Given the description of an element on the screen output the (x, y) to click on. 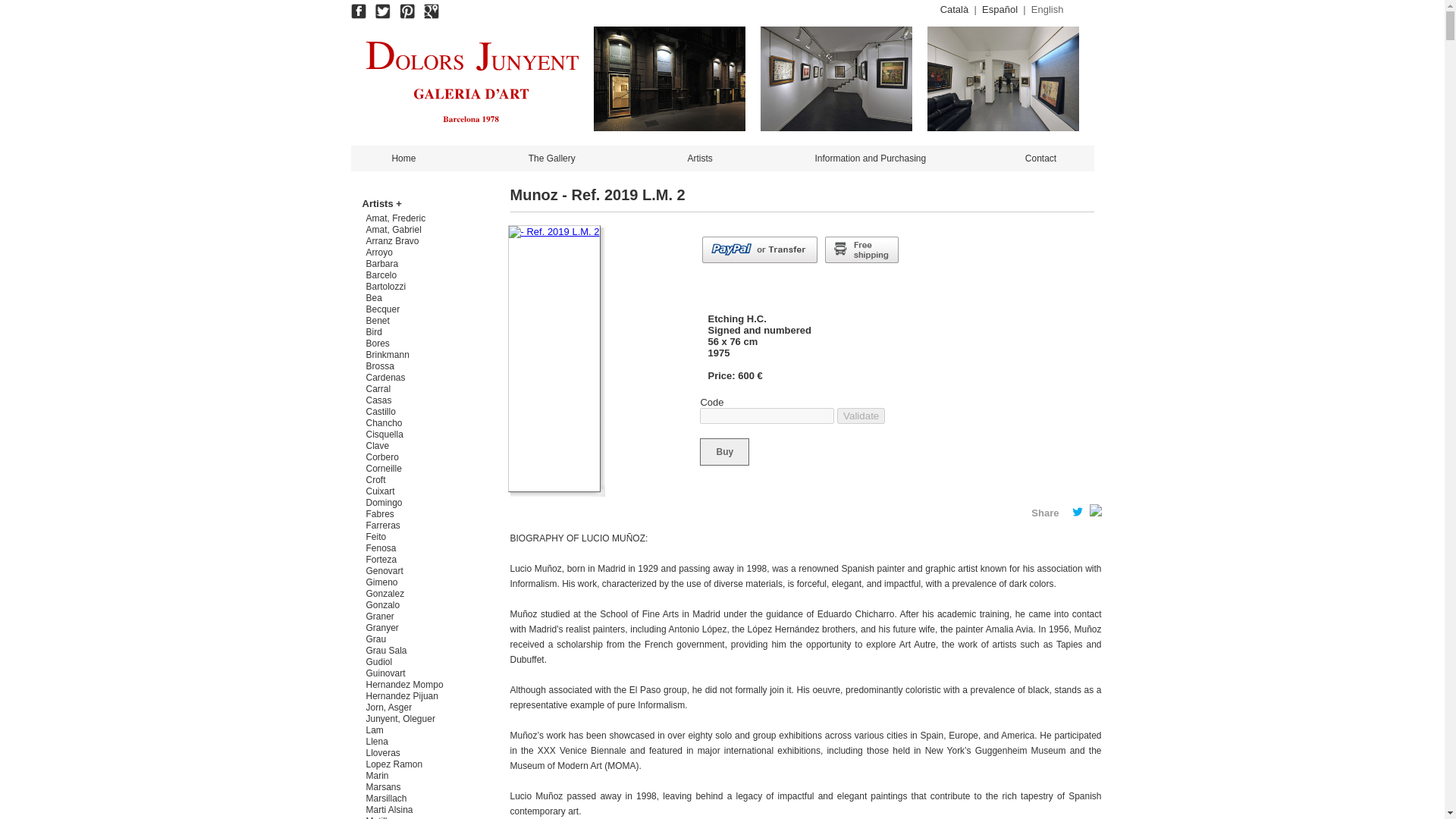
Amat, Gabriel (393, 229)
Information and Purchasing (869, 158)
Pinterest (406, 11)
Corneille (384, 468)
Benet (377, 320)
Farreras (383, 525)
Bea (373, 297)
Bores (377, 343)
Croft (376, 480)
Barcelo (381, 275)
